Given the description of an element on the screen output the (x, y) to click on. 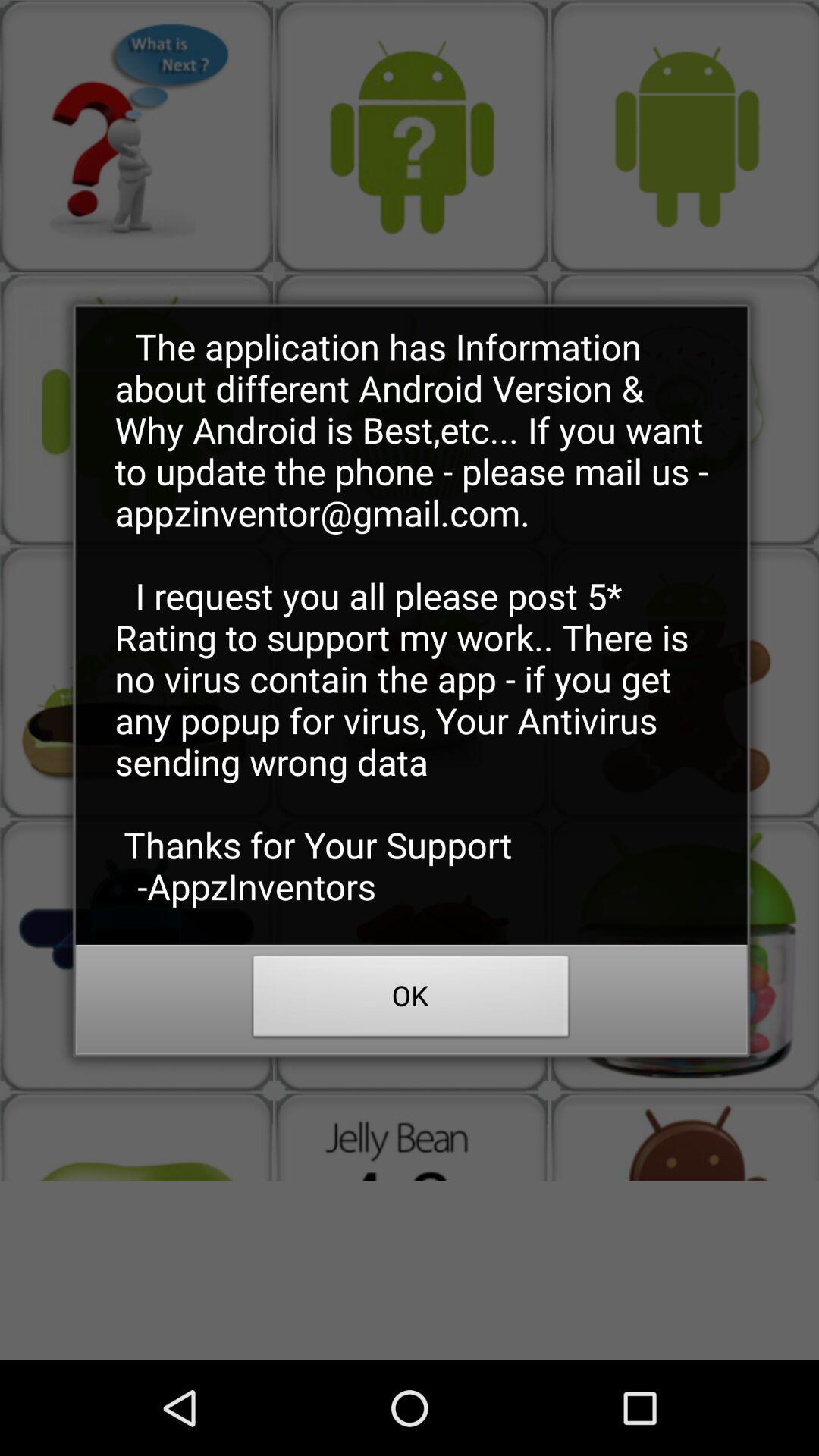
jump to ok button (410, 1000)
